Given the description of an element on the screen output the (x, y) to click on. 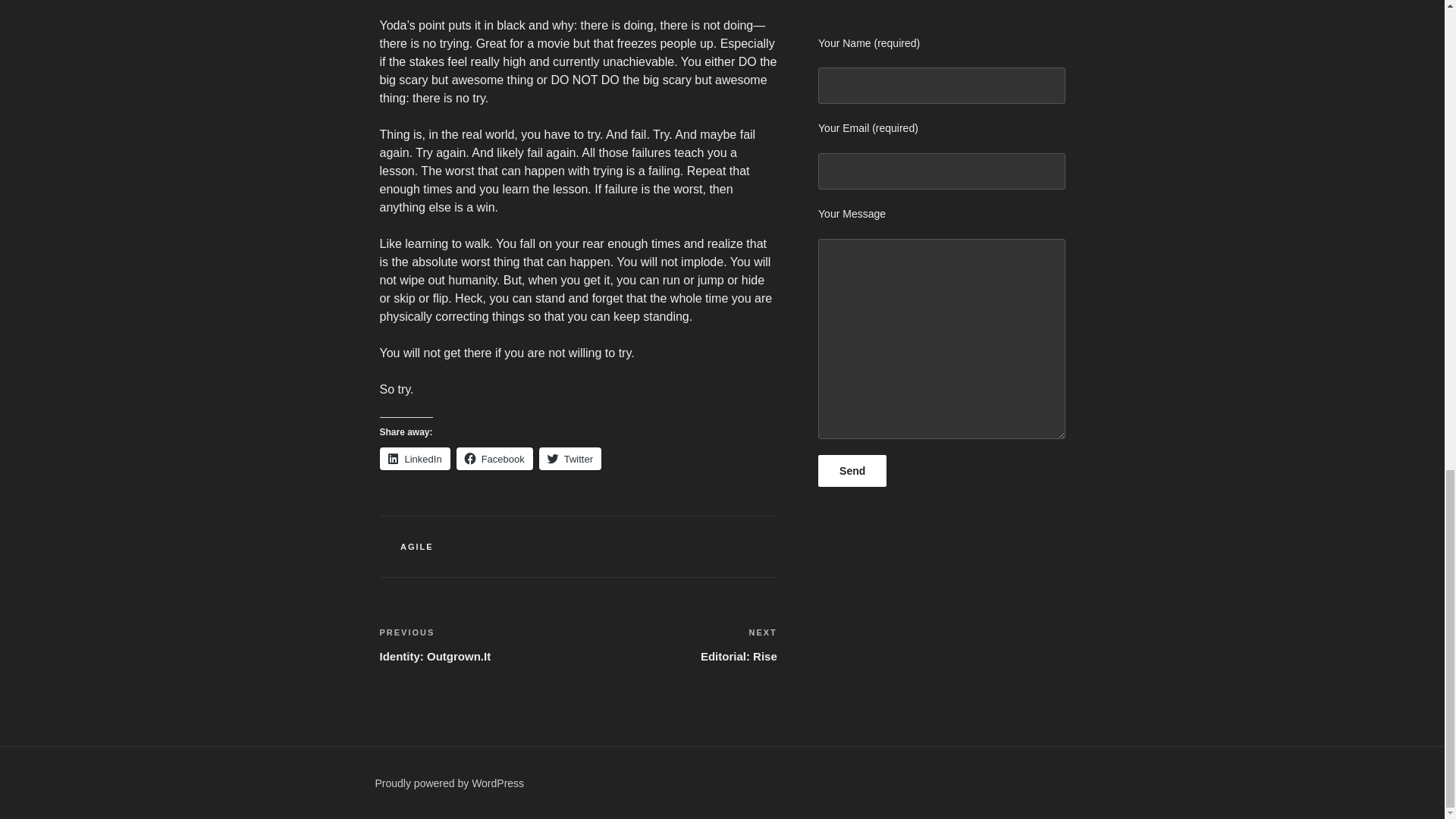
Click to share on LinkedIn (413, 458)
Proudly powered by WordPress (449, 783)
Twitter (677, 644)
AGILE (569, 458)
Click to share on Twitter (478, 644)
LinkedIn (416, 546)
Click to share on Facebook (569, 458)
Send (413, 458)
Send (494, 458)
Facebook (852, 470)
